Given the description of an element on the screen output the (x, y) to click on. 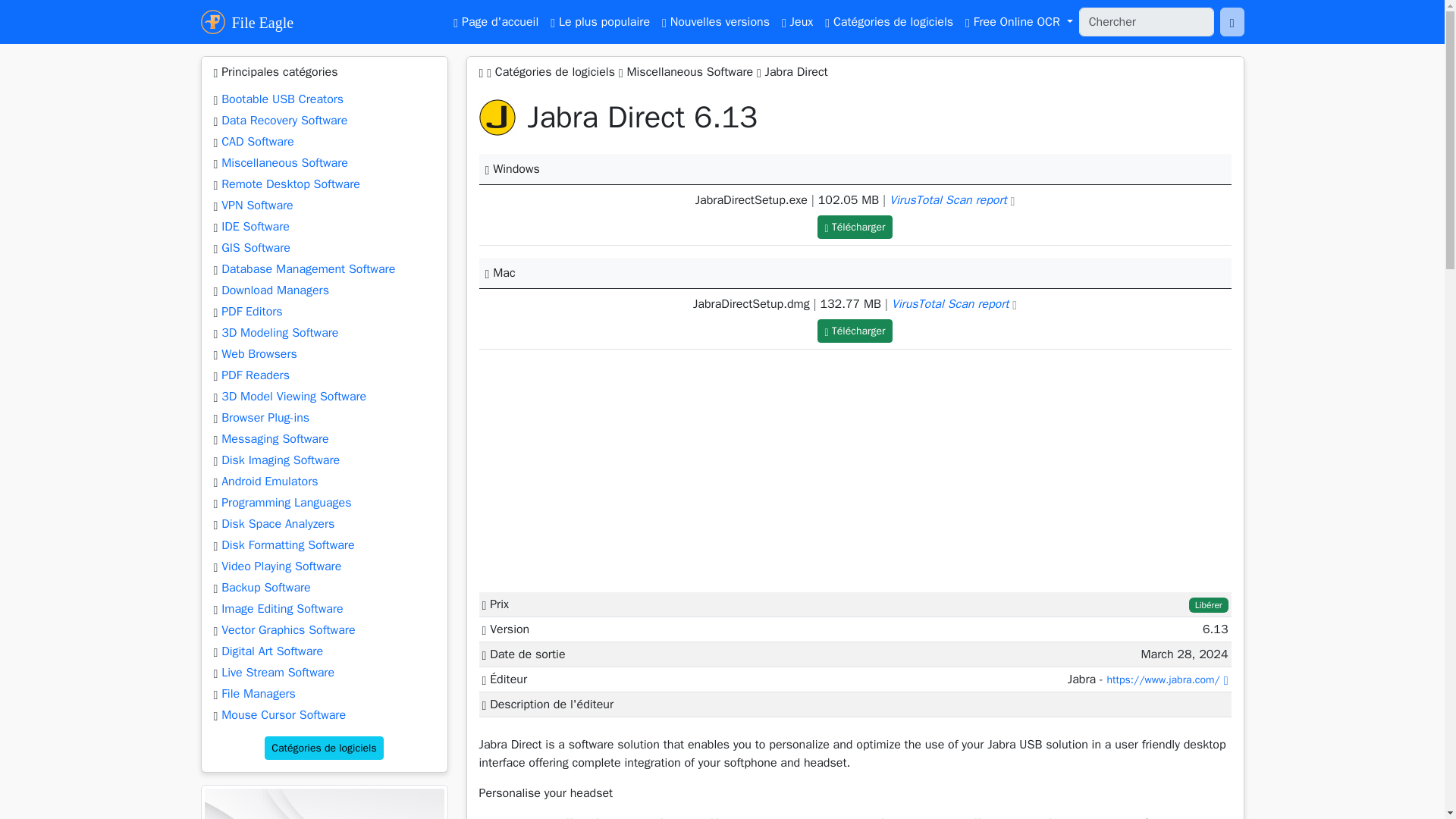
Database Management Software (307, 268)
Android Emulators (269, 481)
GIS Software (255, 247)
Web Browsers (259, 353)
Nouvelles versions (716, 21)
PDF Editors (251, 311)
Programming Languages (285, 502)
Browser Plug-ins (264, 417)
VPN Software (257, 205)
3D Model Viewing Software (293, 396)
Vector Graphics Software (288, 630)
Messaging Software (275, 438)
Digital Art Software (272, 651)
Data Recovery Software (284, 120)
PDF Readers (255, 375)
